Given the description of an element on the screen output the (x, y) to click on. 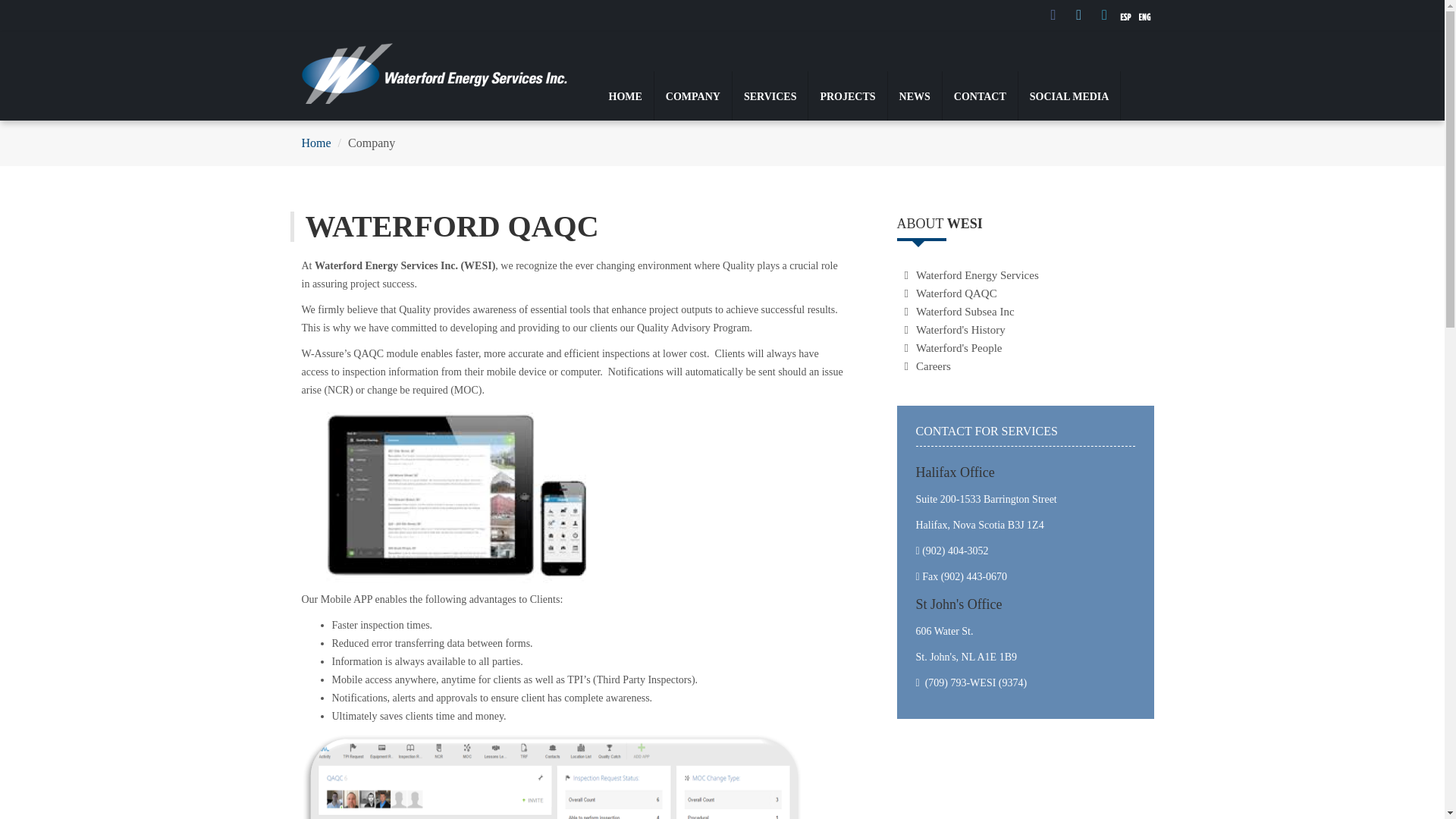
Twitter (1081, 14)
PROJECTS (847, 95)
SERVICES (770, 95)
Home (316, 142)
COMPANY (692, 95)
CONTACT (979, 95)
Facebook (1054, 14)
linkedin (1103, 14)
SOCIAL MEDIA (1069, 95)
